Given the description of an element on the screen output the (x, y) to click on. 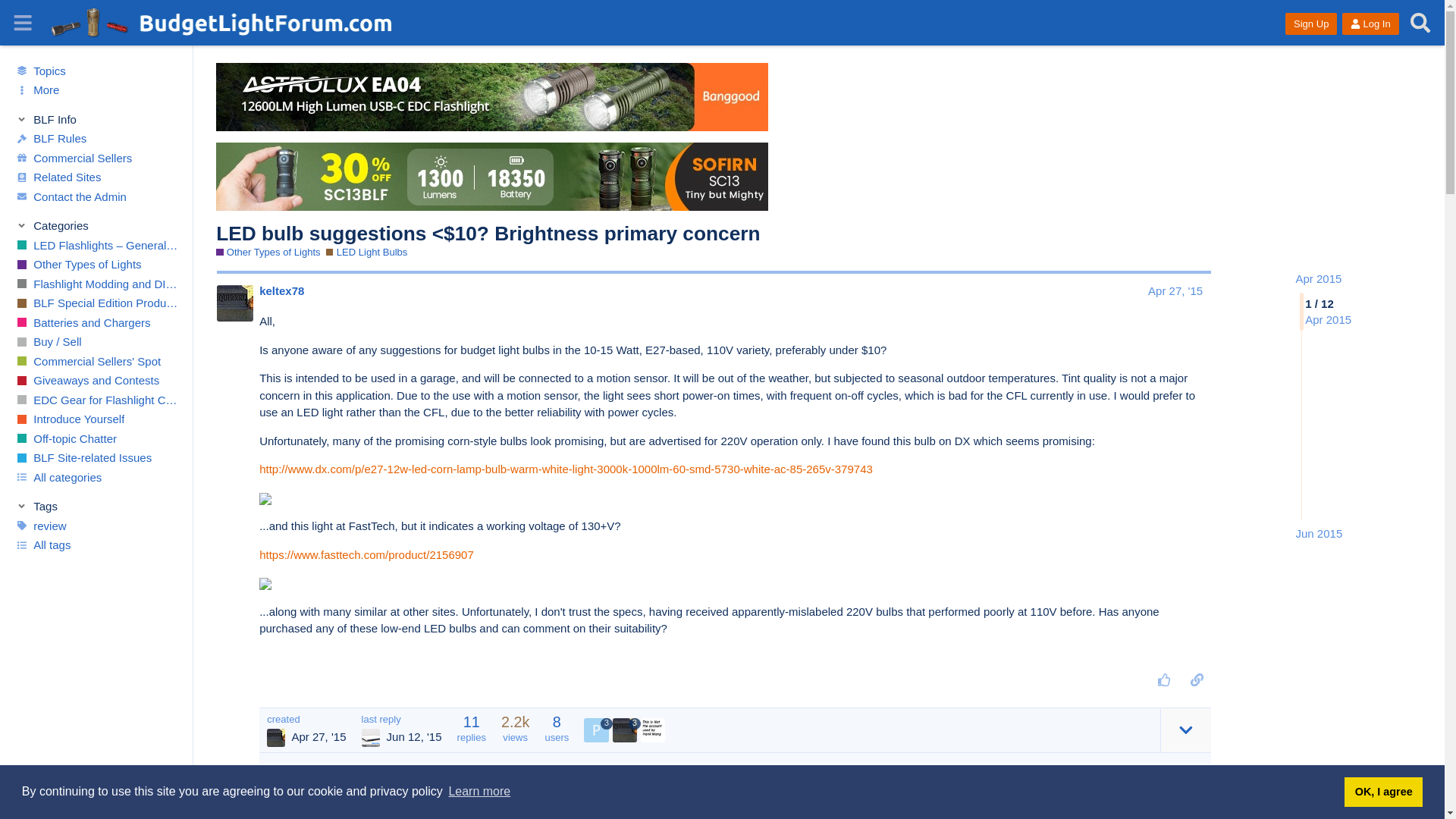
Commercial Sellers' Spot (96, 361)
All categories (96, 477)
Topics (96, 70)
Off-topic Chatter (96, 438)
Toggle section (96, 225)
review (96, 526)
LED Light Bulbs (366, 252)
Categories (96, 225)
Learn more (478, 791)
Search (1421, 22)
Sidebar (23, 22)
EDC Gear for Flashlight Carriers (96, 400)
Related Sites (96, 177)
Contact the Admin (96, 196)
